Given the description of an element on the screen output the (x, y) to click on. 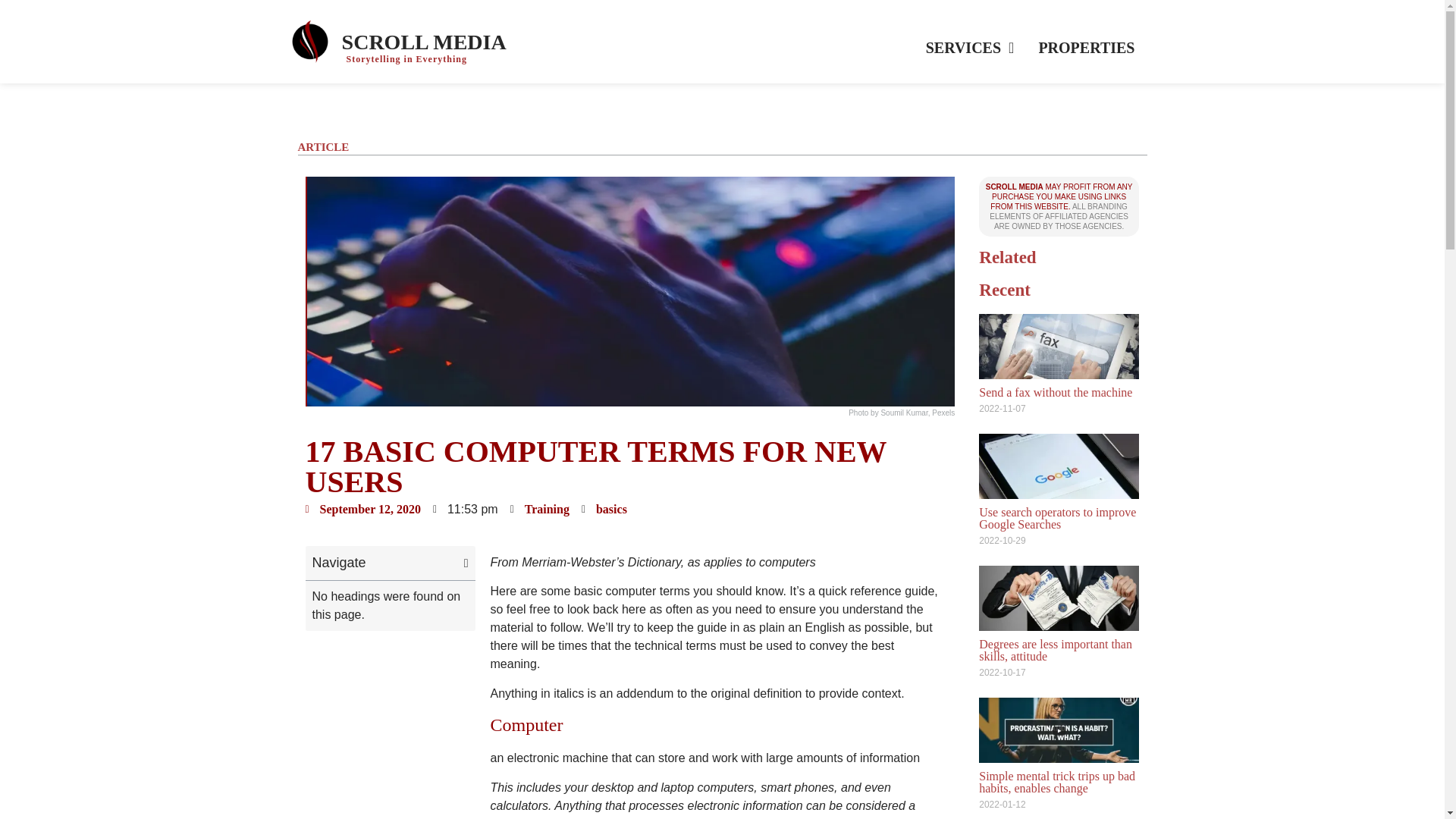
Simple mental trick trips up bad habits, enables change (1056, 781)
Degrees are less important than skills, attitude (1055, 650)
PROPERTIES (1086, 47)
Send a fax without the machine (1055, 391)
SERVICES (970, 47)
Use search operators to improve Google Searches (1056, 518)
basics (611, 508)
September 12, 2020 (362, 509)
Storytelling in Everything (406, 59)
Training (546, 508)
